Given the description of an element on the screen output the (x, y) to click on. 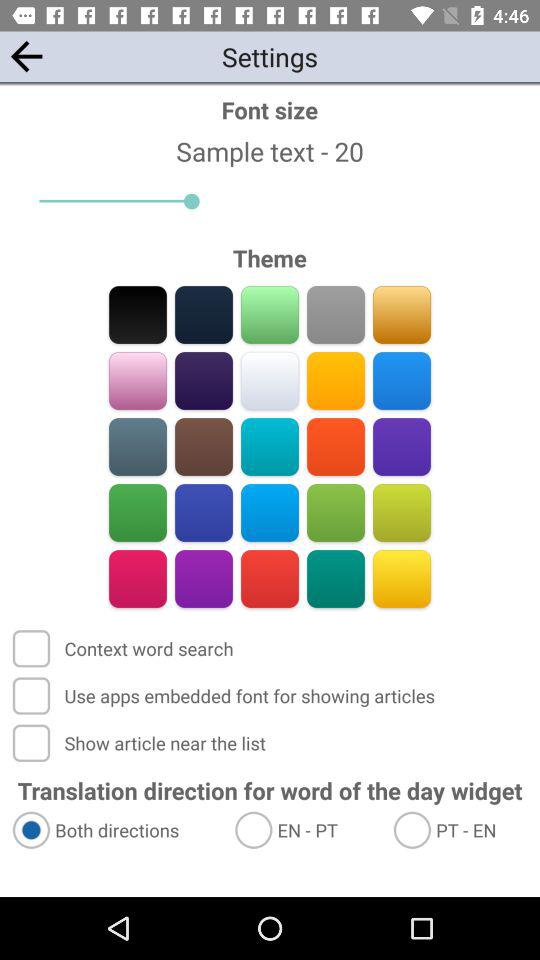
select color (401, 446)
